Given the description of an element on the screen output the (x, y) to click on. 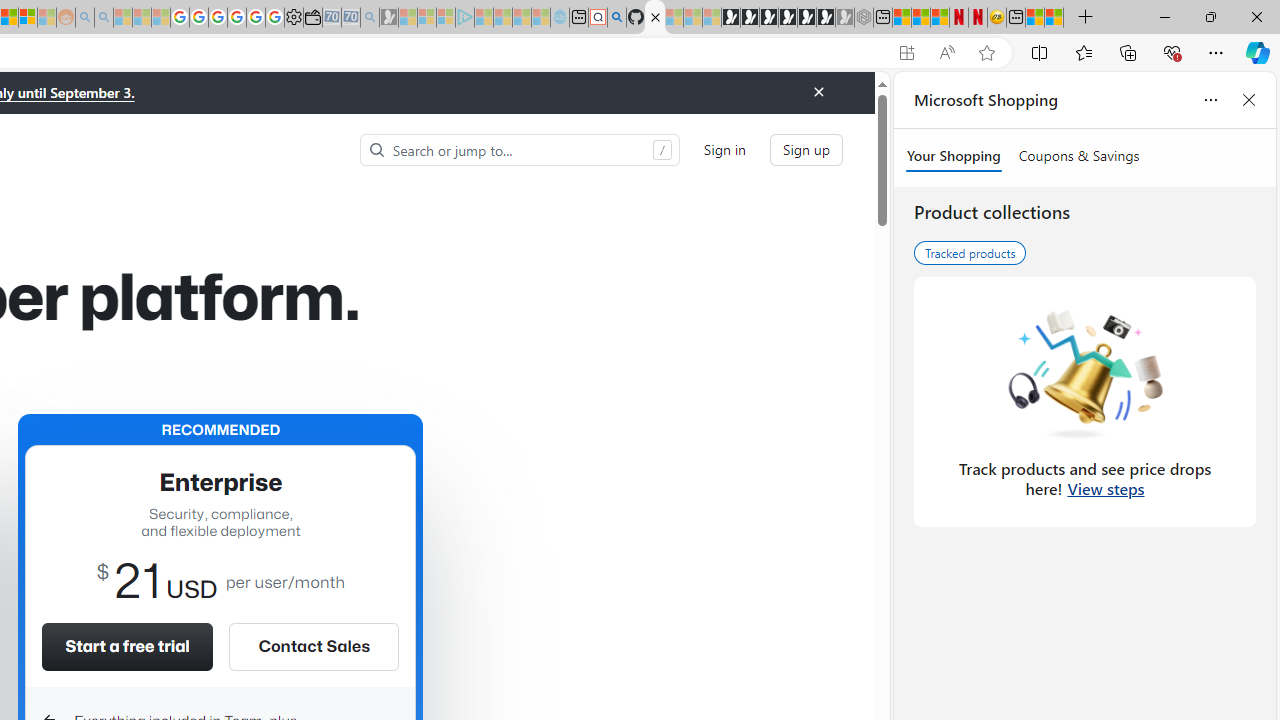
Wildlife - MSN (1035, 17)
github - Search (616, 17)
